Given the description of an element on the screen output the (x, y) to click on. 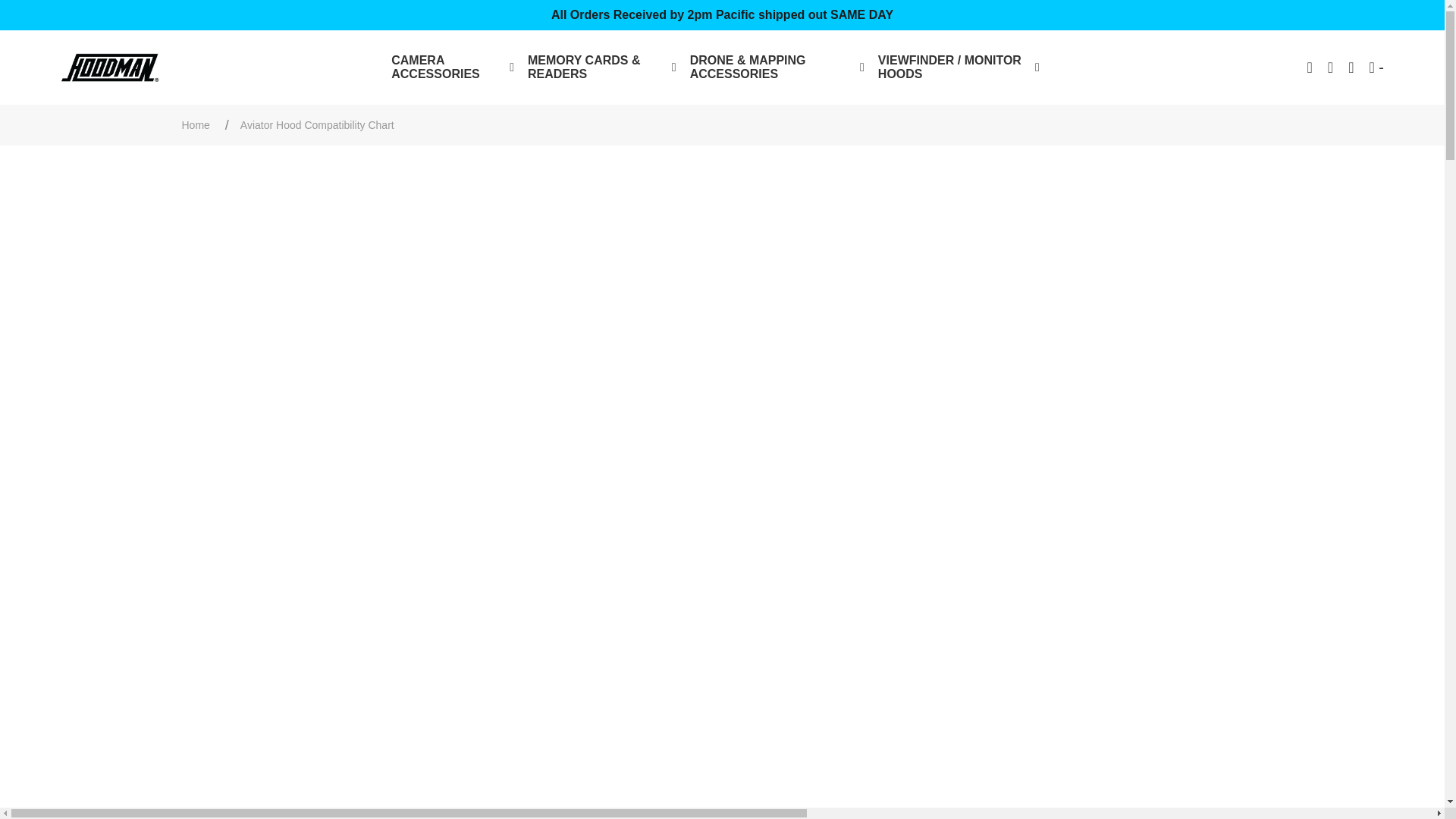
All Orders Received by 2pm Pacific shipped out SAME DAY (722, 15)
Back to the home page (195, 124)
CAMERA ACCESSORIES (452, 67)
